Given the description of an element on the screen output the (x, y) to click on. 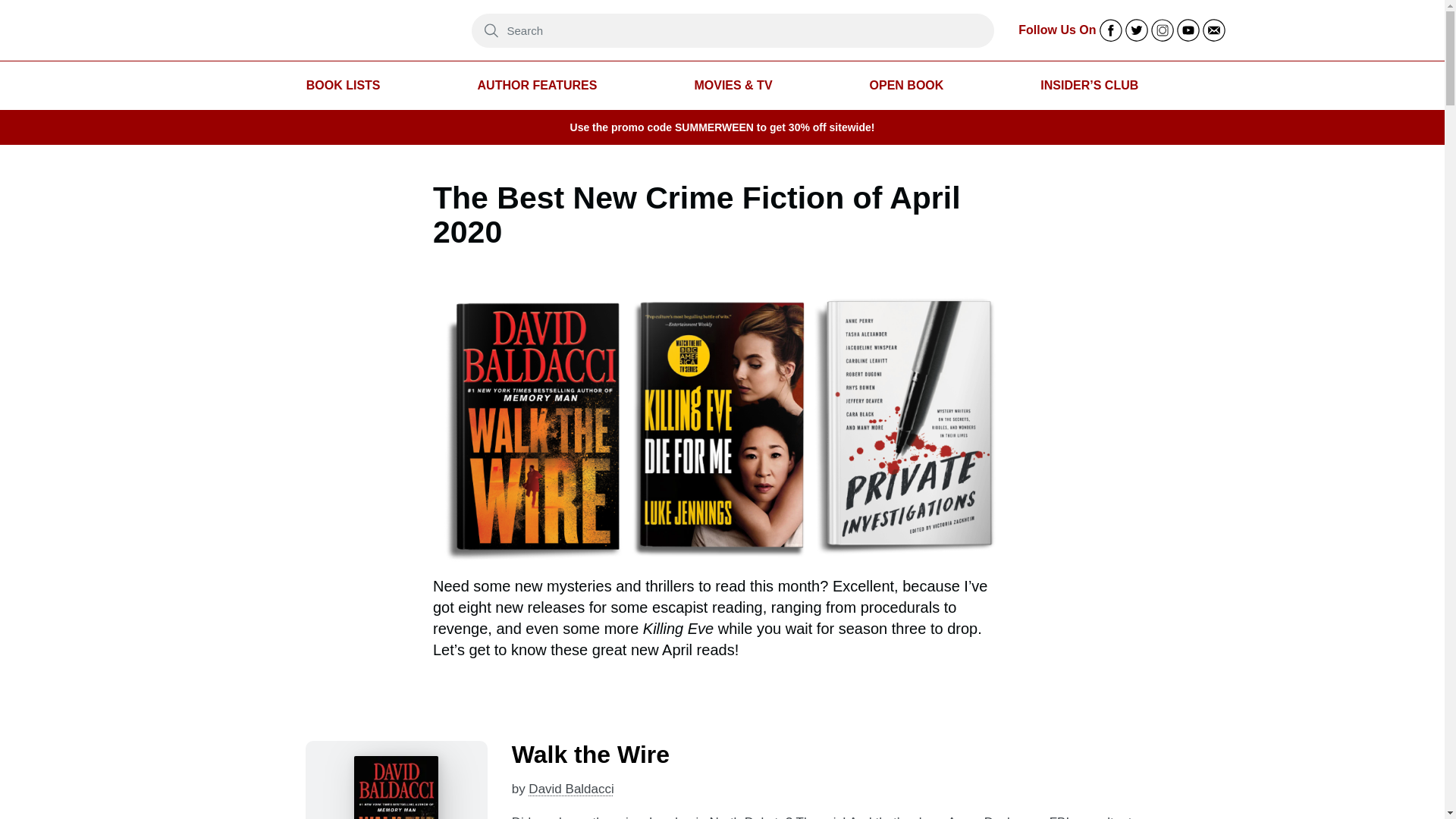
Go to Hachette Book Group home (332, 30)
BOOK LISTS (342, 85)
David Baldacci (570, 789)
AUTHOR FEATURES (536, 85)
Walk the Wire (590, 754)
OPEN BOOK (906, 85)
